Given the description of an element on the screen output the (x, y) to click on. 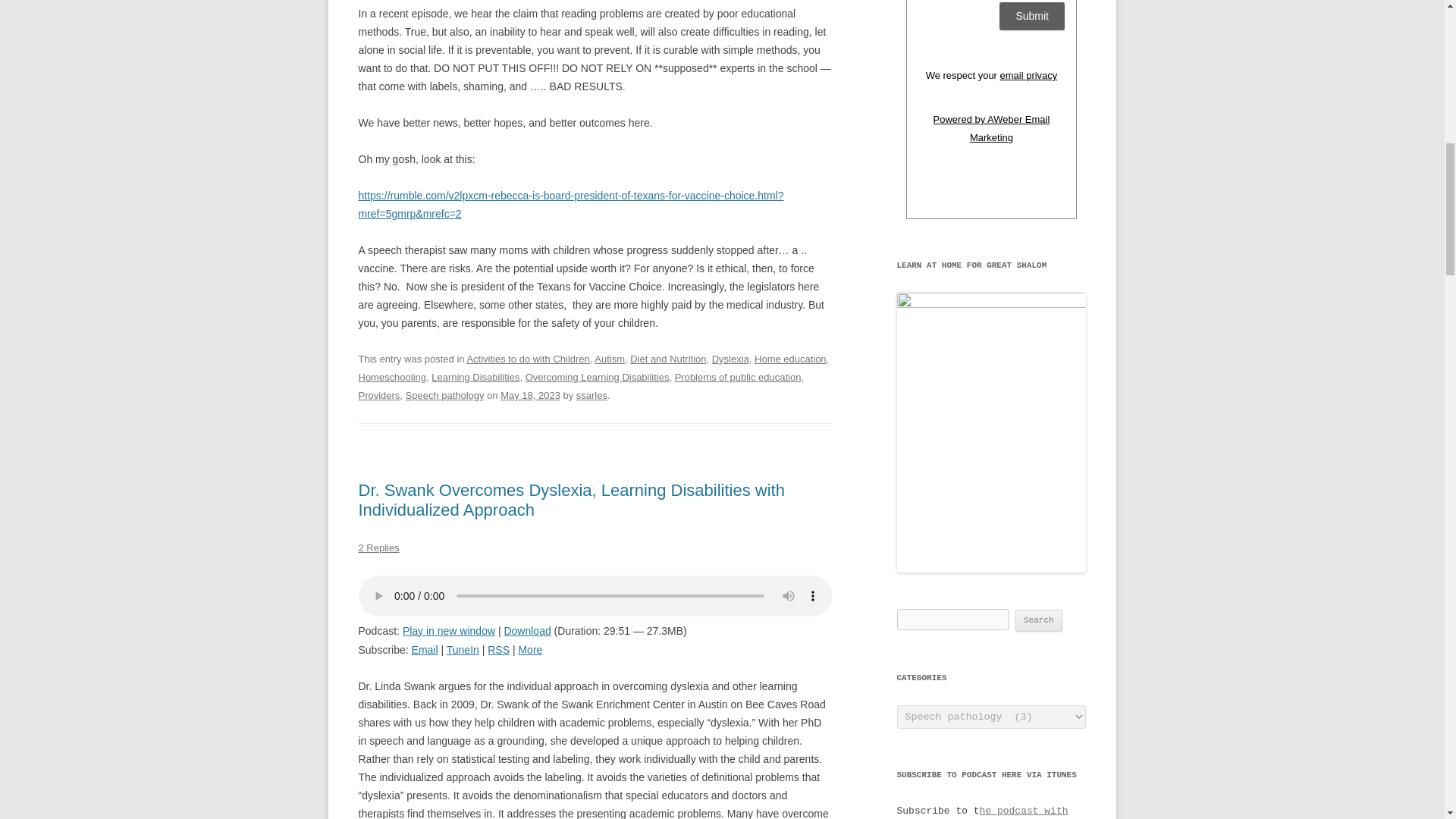
Activities to do with Children (527, 358)
Submit (1031, 16)
Search (1038, 620)
